Given the description of an element on the screen output the (x, y) to click on. 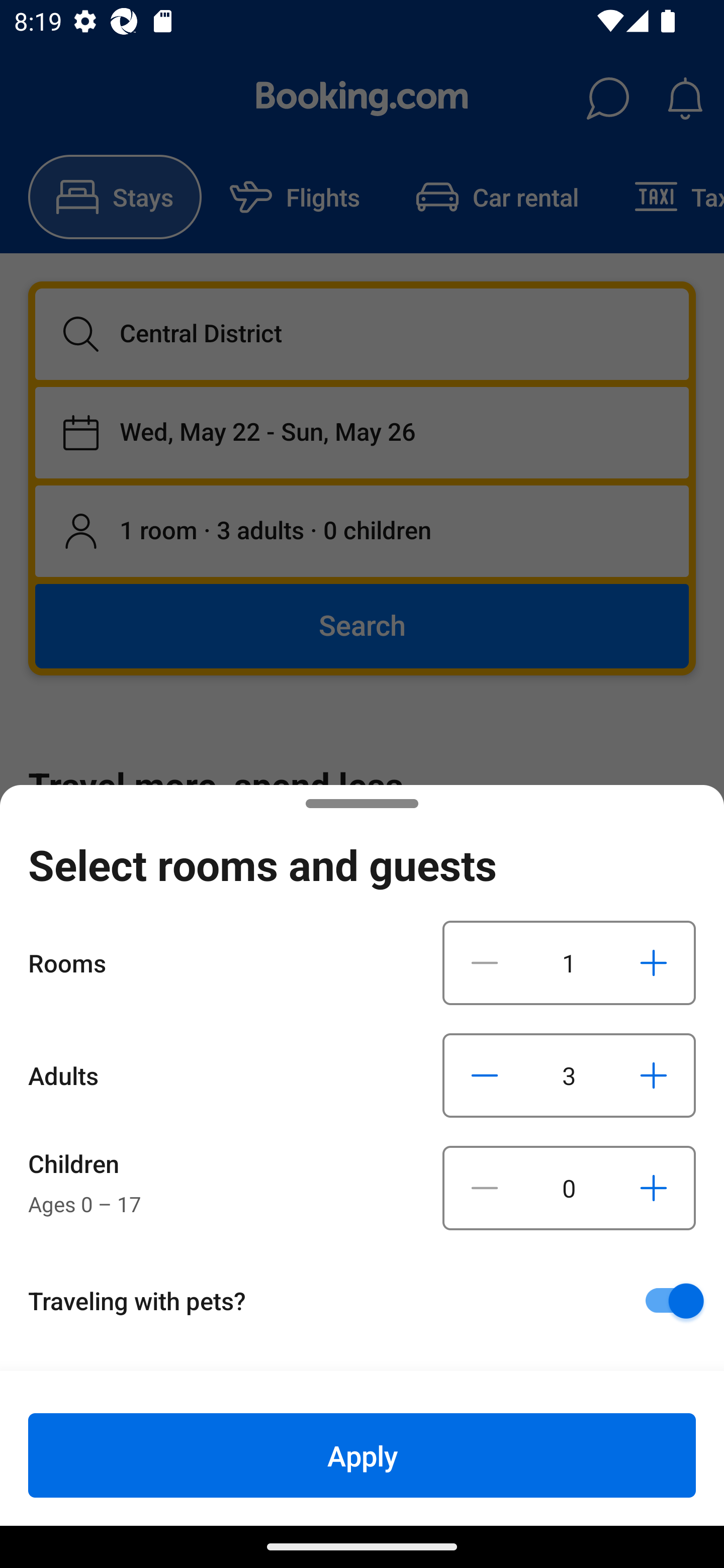
Decrease (484, 962)
Increase (653, 962)
Decrease (484, 1075)
Increase (653, 1075)
Decrease (484, 1188)
Increase (653, 1188)
Traveling with pets? (369, 1300)
Apply (361, 1454)
